Given the description of an element on the screen output the (x, y) to click on. 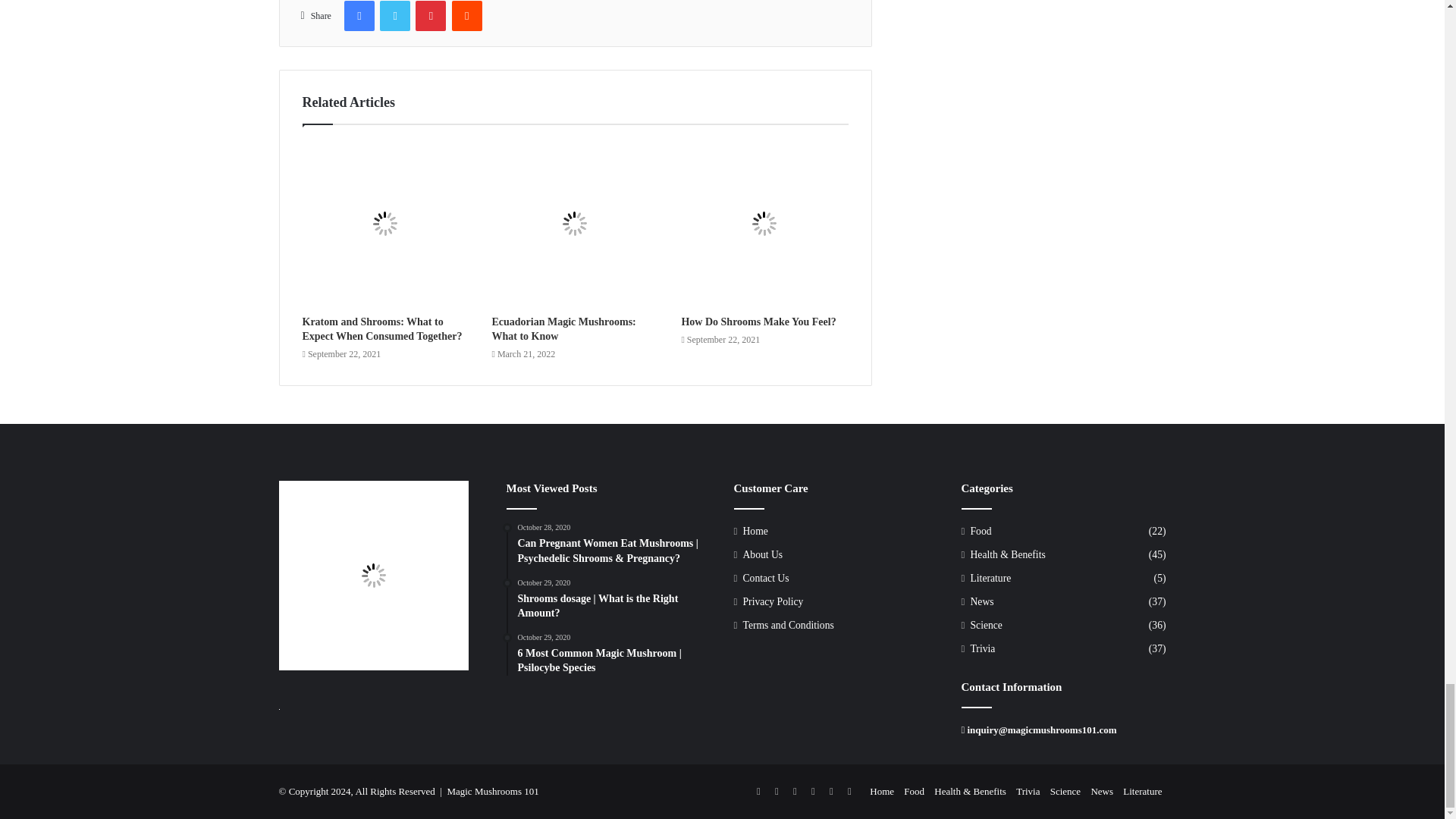
Twitter (395, 15)
Facebook (358, 15)
Pinterest (429, 15)
Twitter (395, 15)
Reddit (466, 15)
Facebook (358, 15)
